Given the description of an element on the screen output the (x, y) to click on. 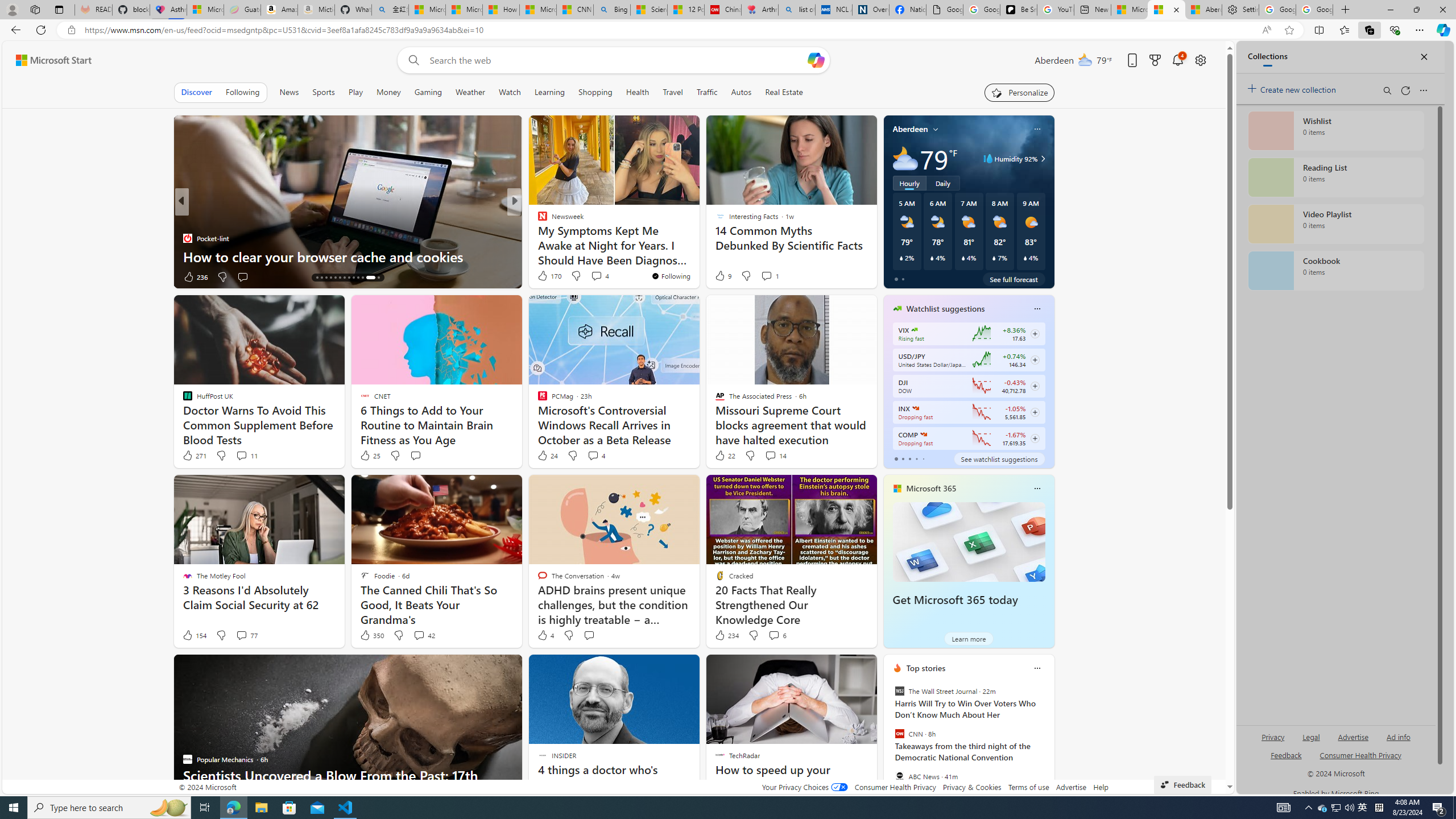
next (1047, 741)
Class: follow-button  m (1034, 438)
9 Like (722, 275)
234 Like (726, 634)
View comments 14 Comment (770, 455)
CNN - MSN (574, 9)
Following (242, 92)
154 Like (193, 634)
AutomationID: tab-15 (321, 277)
AutomationID: tab-21 (348, 277)
NASDAQ (923, 434)
Open Copilot (815, 59)
